Given the description of an element on the screen output the (x, y) to click on. 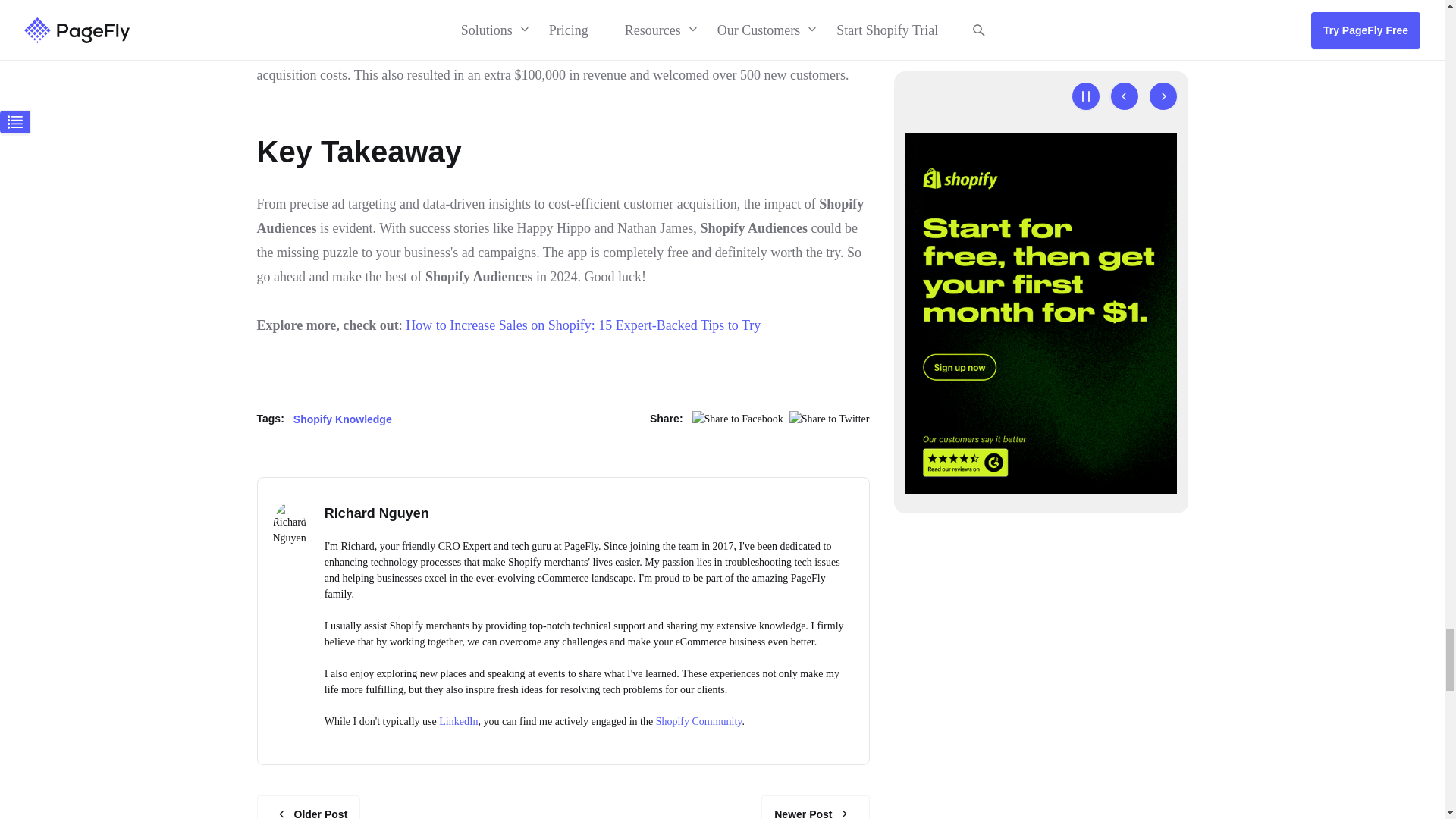
Show articles tagged Shopify Knowledge (342, 419)
how to increase sales on shopify (583, 324)
